Given the description of an element on the screen output the (x, y) to click on. 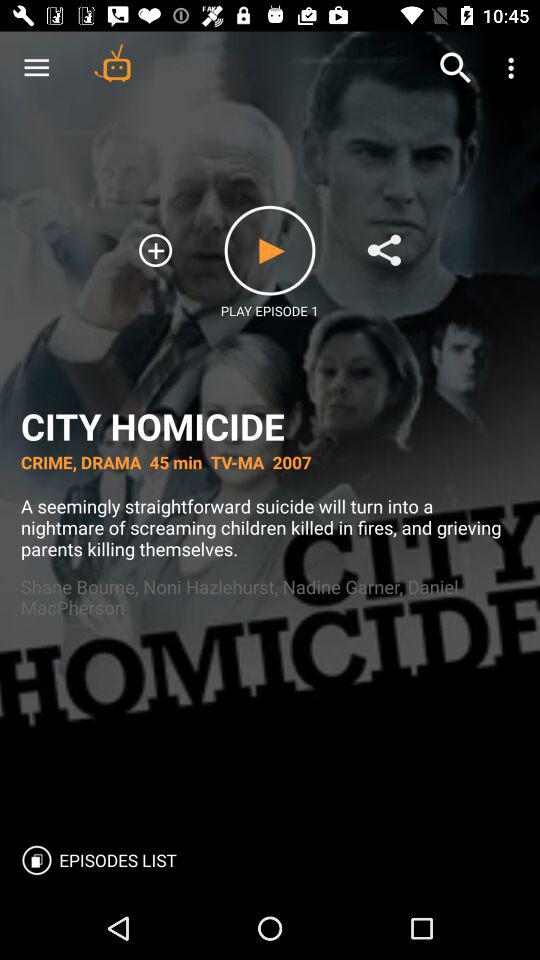
add to playlist option (155, 250)
